Given the description of an element on the screen output the (x, y) to click on. 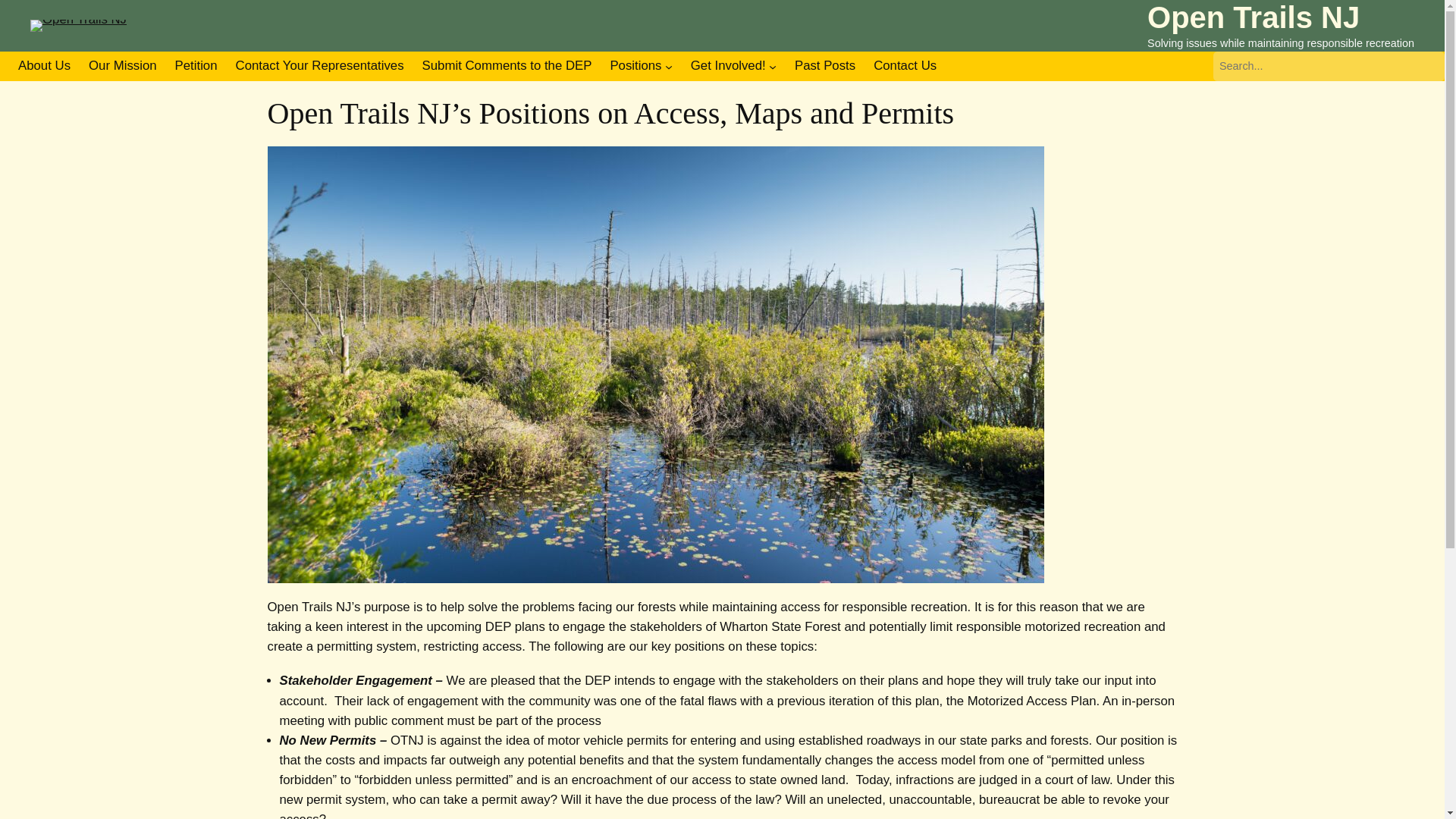
About Us (43, 66)
Positions (635, 66)
Get Involved! (727, 66)
Past Posts (825, 66)
Our Mission (122, 66)
Petition (195, 66)
Contact Your Representatives (319, 66)
Open Trails NJ (1253, 17)
Submit Comments to the DEP (507, 66)
Contact Us (904, 66)
